Given the description of an element on the screen output the (x, y) to click on. 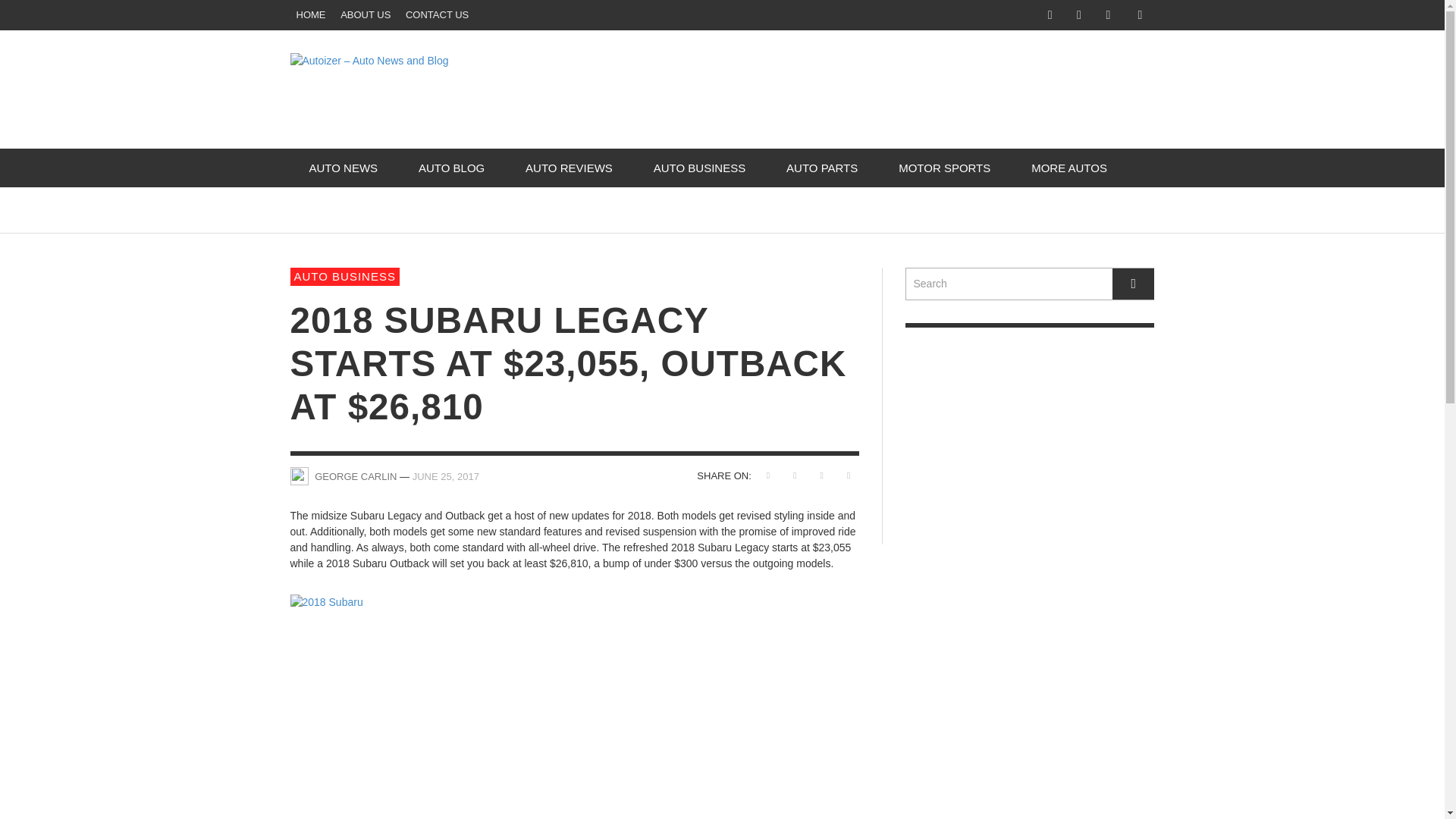
HOME (310, 15)
ABOUT US (365, 15)
AUTO NEWS (342, 167)
Search (1029, 283)
AUTO BLOG (450, 167)
Twitter (1107, 15)
CONTACT US (436, 15)
AUTO REVIEWS (568, 167)
Facebook (1049, 15)
